Given the description of an element on the screen output the (x, y) to click on. 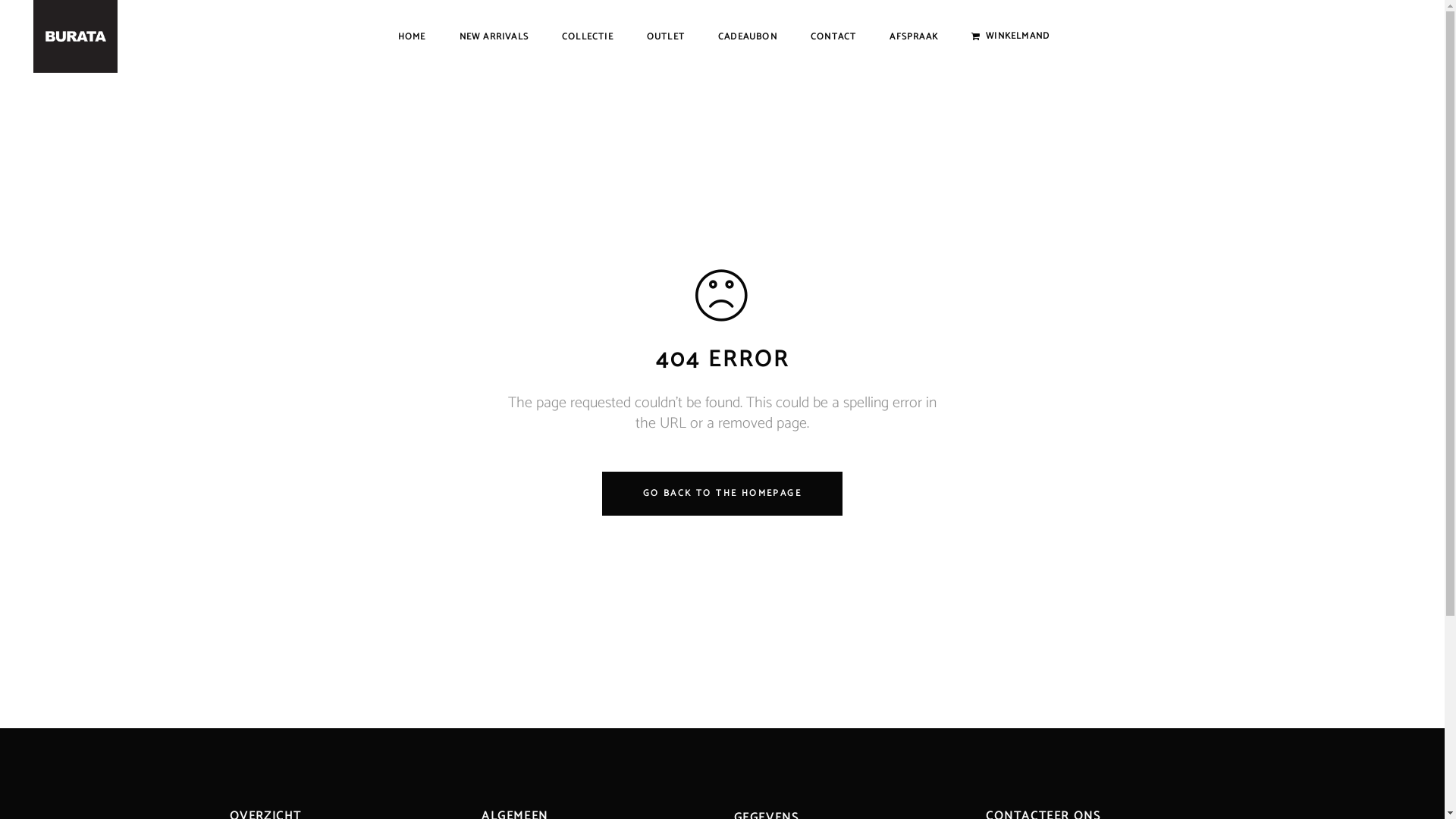
NEW ARRIVALS Element type: text (493, 36)
GO BACK TO THE HOMEPAGE Element type: text (722, 493)
CONTACT Element type: text (832, 36)
CADEAUBON Element type: text (747, 36)
HOME Element type: text (411, 36)
WINKELMAND Element type: text (1010, 36)
OUTLET Element type: text (665, 36)
COLLECTIE Element type: text (587, 36)
AFSPRAAK Element type: text (913, 36)
